Given the description of an element on the screen output the (x, y) to click on. 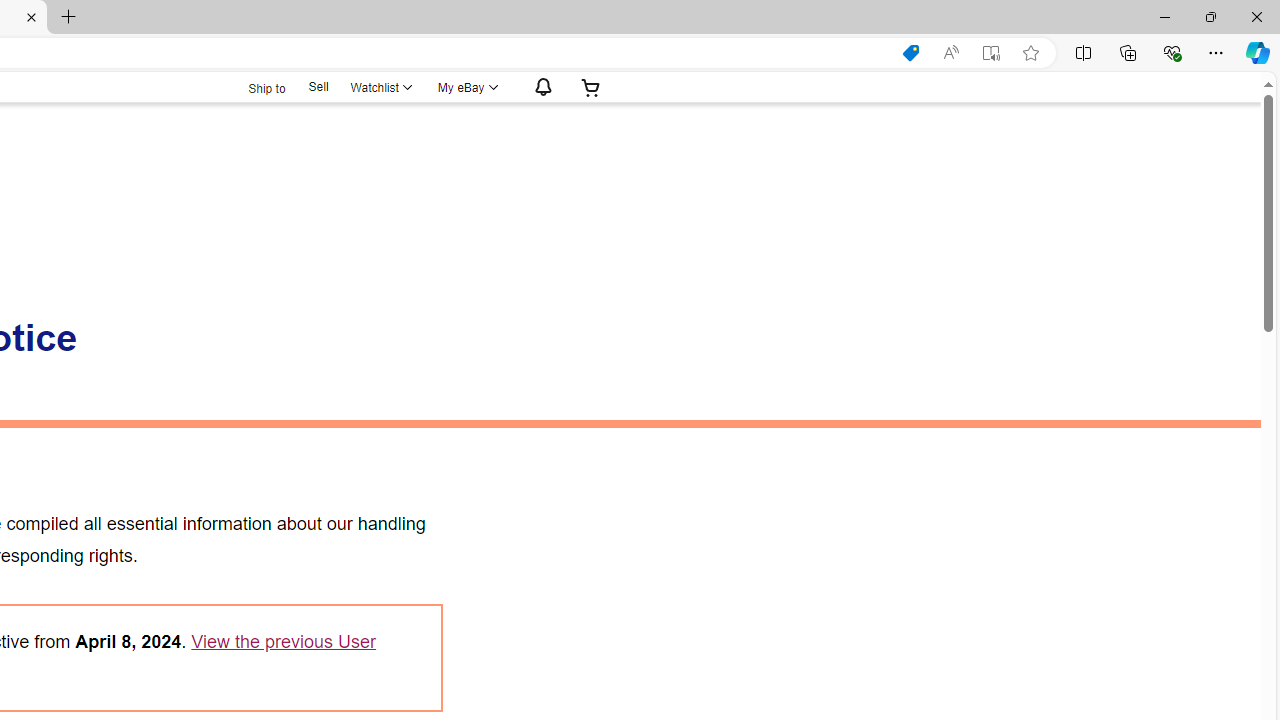
AutomationID: gh-eb-Alerts (540, 87)
My eBay (466, 87)
Expand Cart (591, 87)
Your shopping cart (591, 87)
Watchlist (380, 87)
My eBayExpand My eBay (466, 87)
Enter Immersive Reader (F9) (991, 53)
Ship to (253, 88)
